Given the description of an element on the screen output the (x, y) to click on. 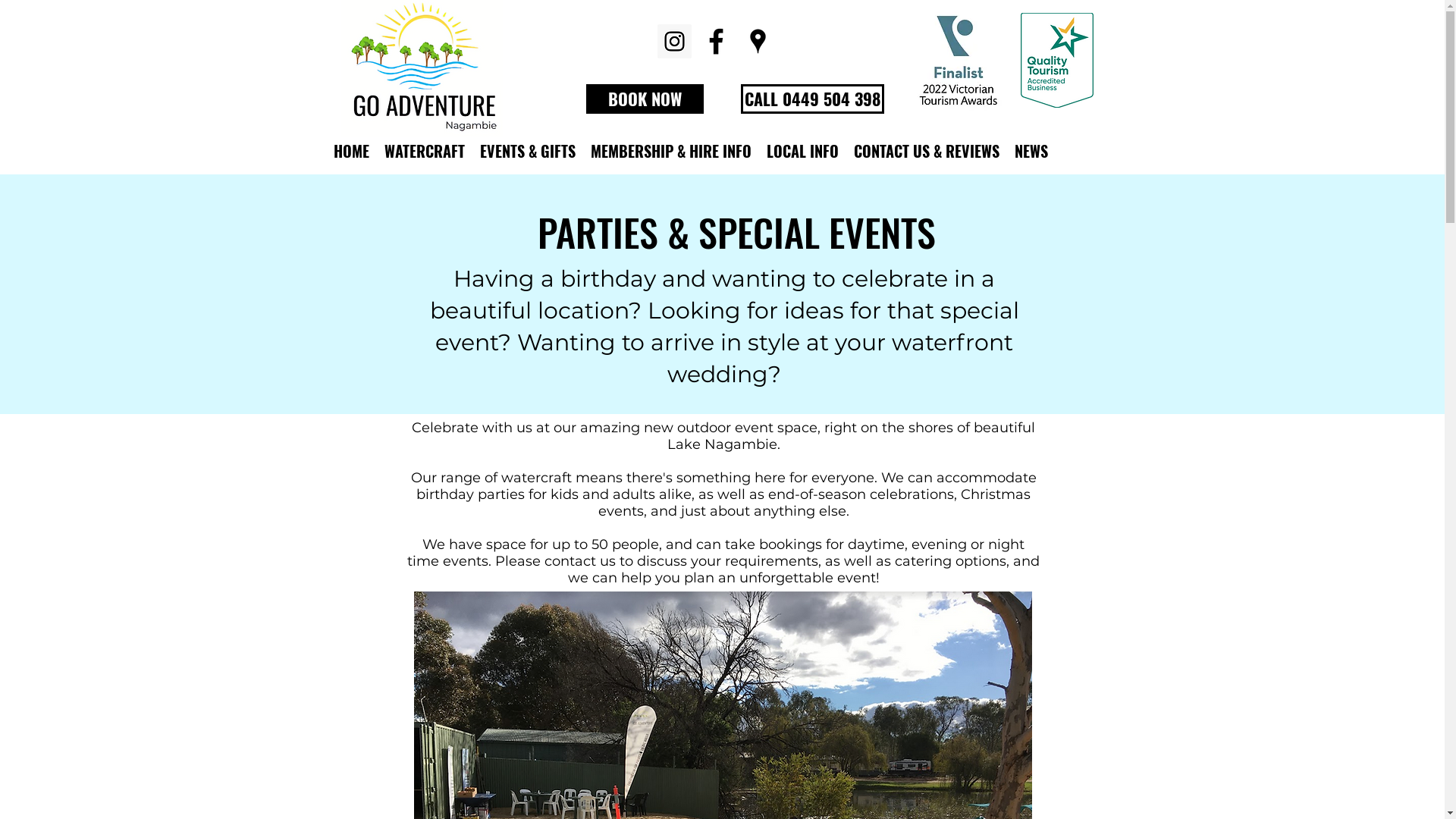
BOOK NOW Element type: text (643, 98)
HOME Element type: text (351, 150)
CONTACT US & REVIEWS Element type: text (926, 150)
CALL 0449 504 398 Element type: text (811, 98)
WATERCRAFT Element type: text (424, 150)
LOCAL INFO Element type: text (802, 150)
MEMBERSHIP & HIRE INFO Element type: text (671, 150)
NEWS Element type: text (1031, 150)
